Given the description of an element on the screen output the (x, y) to click on. 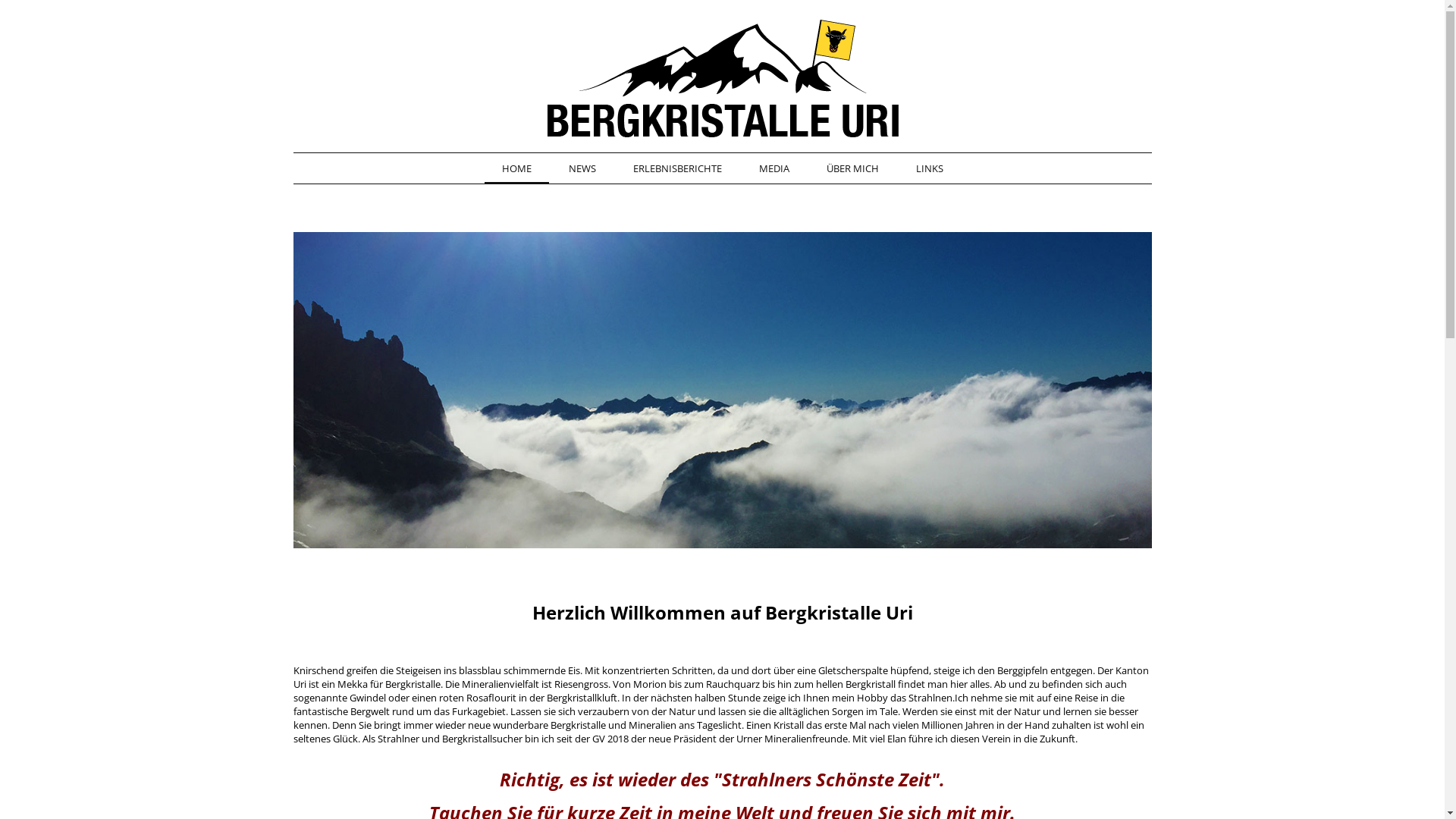
  Element type: text (716, 557)
  Element type: text (705, 557)
  Element type: text (761, 557)
LINKS Element type: text (928, 168)
MEDIA Element type: text (773, 168)
  Element type: text (750, 557)
  Element type: text (739, 557)
  Element type: text (773, 557)
  Element type: text (693, 557)
HOME Element type: text (515, 168)
  Element type: text (727, 557)
  Element type: text (784, 557)
  Element type: text (670, 557)
ERLEBNISBERICHTE Element type: text (677, 168)
  Element type: text (682, 557)
  Element type: text (659, 557)
NEWS Element type: text (581, 168)
